Given the description of an element on the screen output the (x, y) to click on. 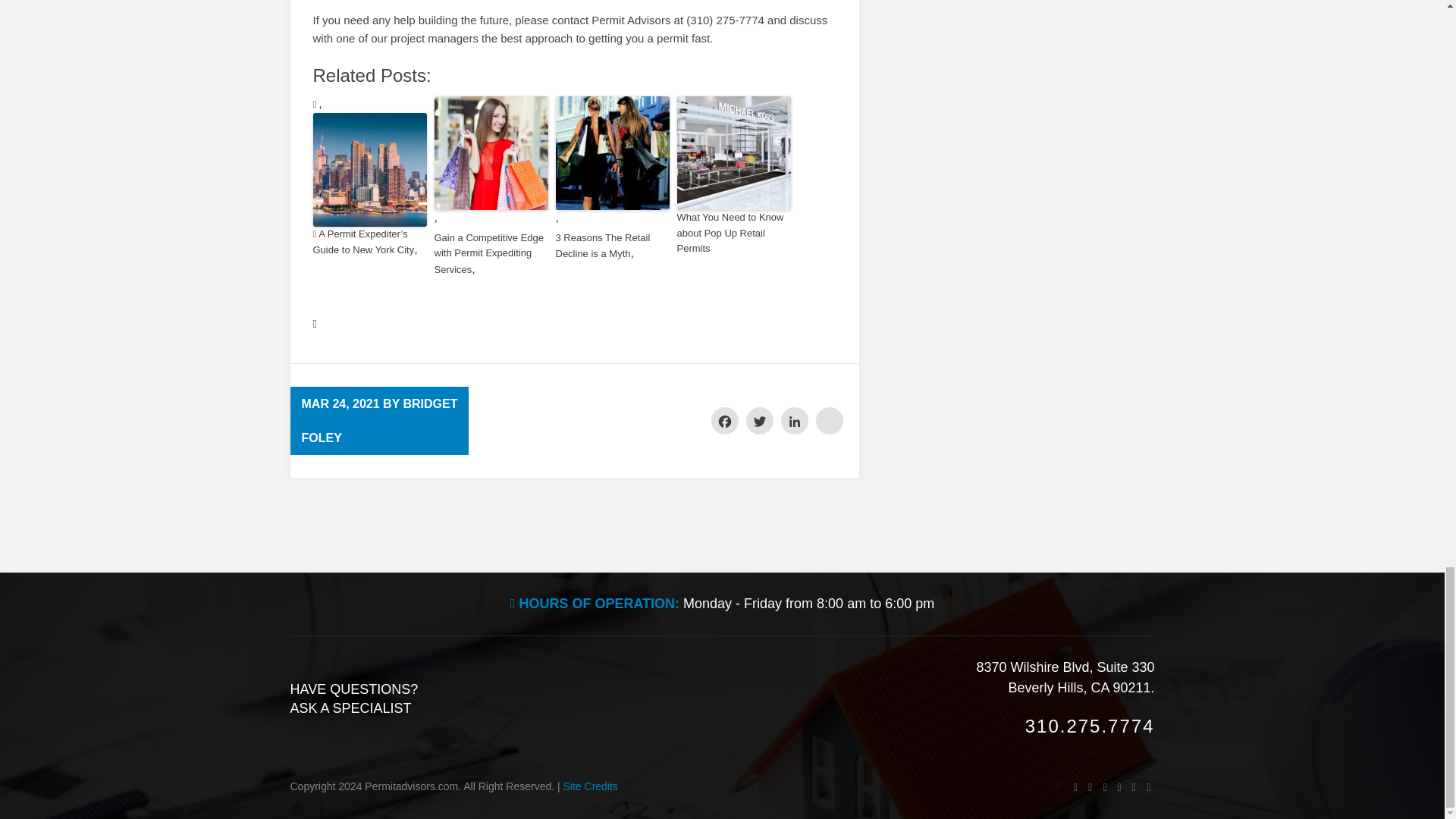
3 Reasons The Retail Decline is a Myth (611, 246)
Facebook (724, 420)
Twitter (759, 420)
Gain a Competitive Edge with Permit Expediting Services (490, 254)
LinkedIn (794, 420)
LinkedIn (794, 420)
Twitter (759, 420)
Facebook (724, 420)
